Given the description of an element on the screen output the (x, y) to click on. 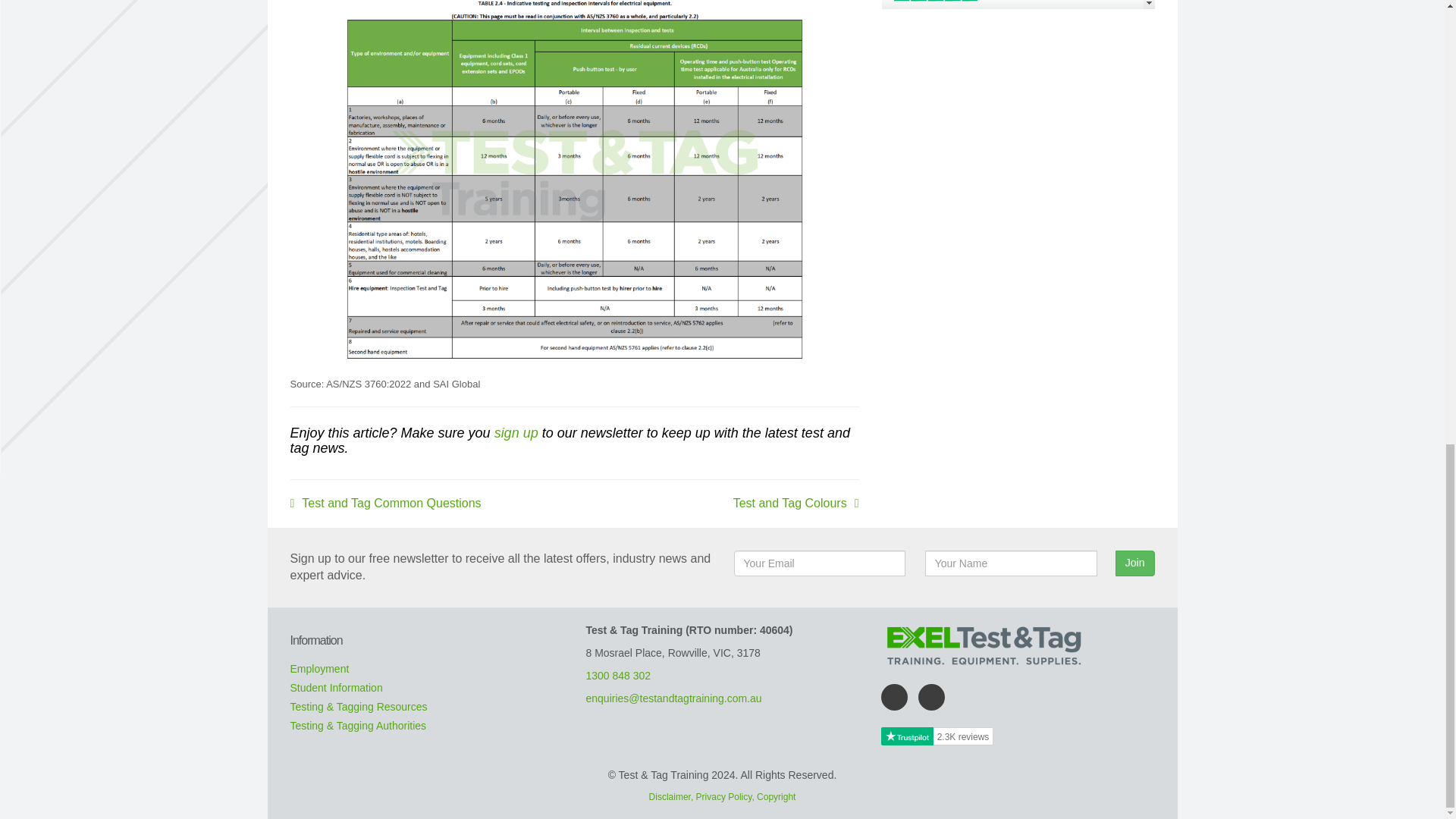
Customer reviews powered by Trustpilot (1017, 4)
Customer reviews powered by Trustpilot (937, 736)
